Given the description of an element on the screen output the (x, y) to click on. 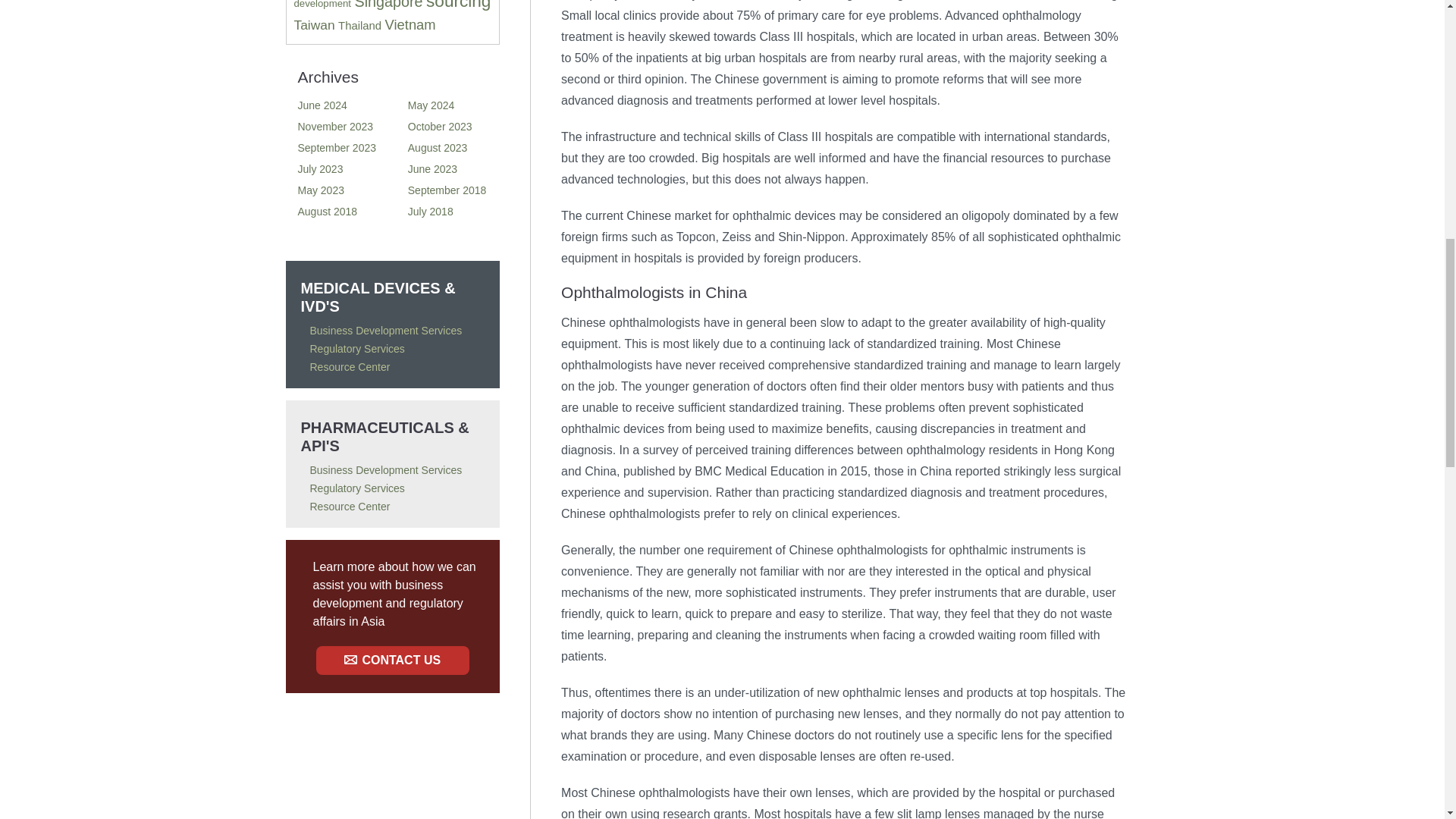
Resource Center (349, 506)
Regulatory Services (356, 488)
Contact Us (391, 660)
Resource Center (349, 367)
Regulatory Services (356, 348)
Business Development Services (384, 469)
Business Development Services (384, 330)
